Given the description of an element on the screen output the (x, y) to click on. 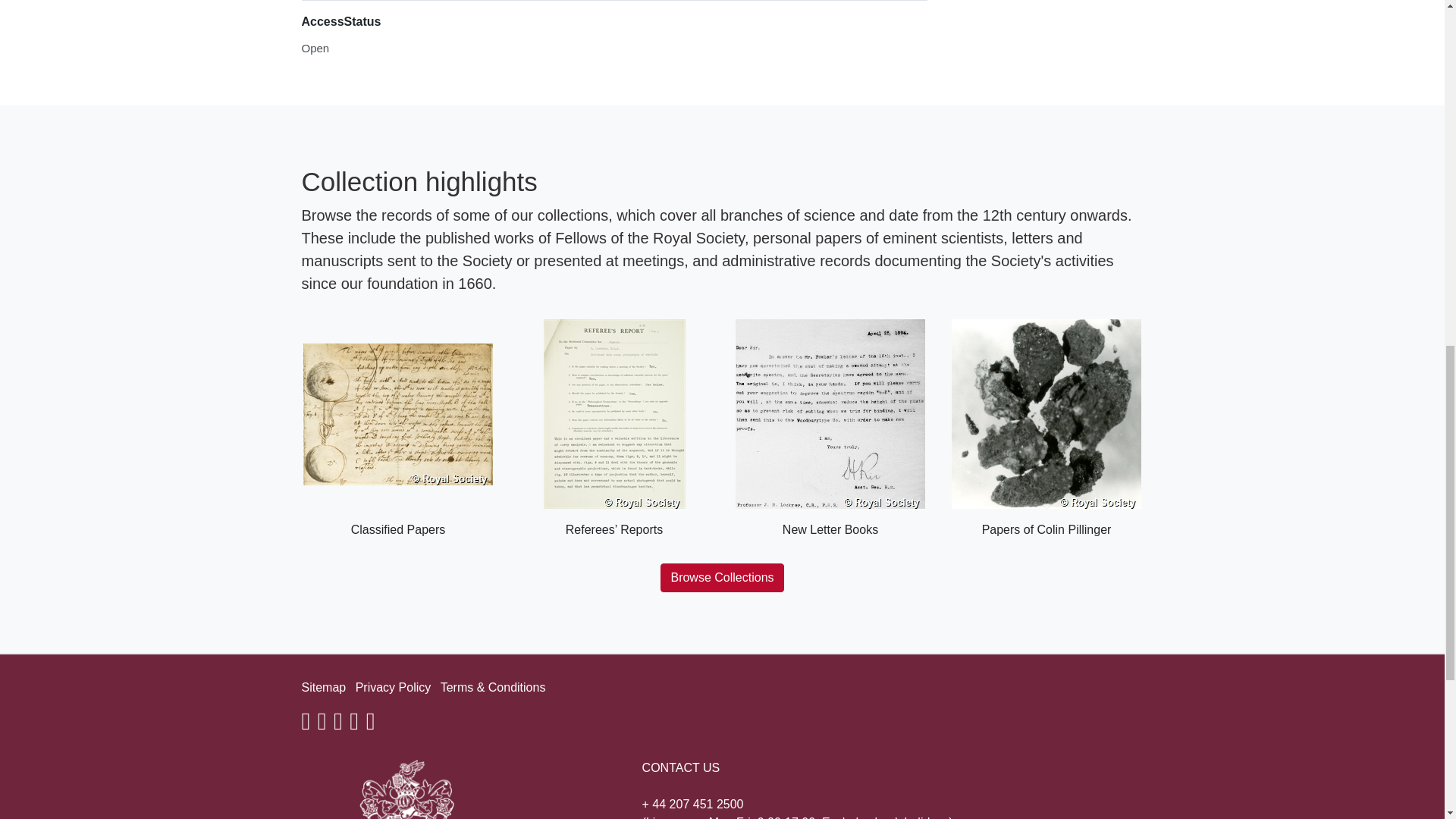
Browse Collections (722, 577)
Sitemap (323, 686)
Privacy Policy (392, 686)
